Given the description of an element on the screen output the (x, y) to click on. 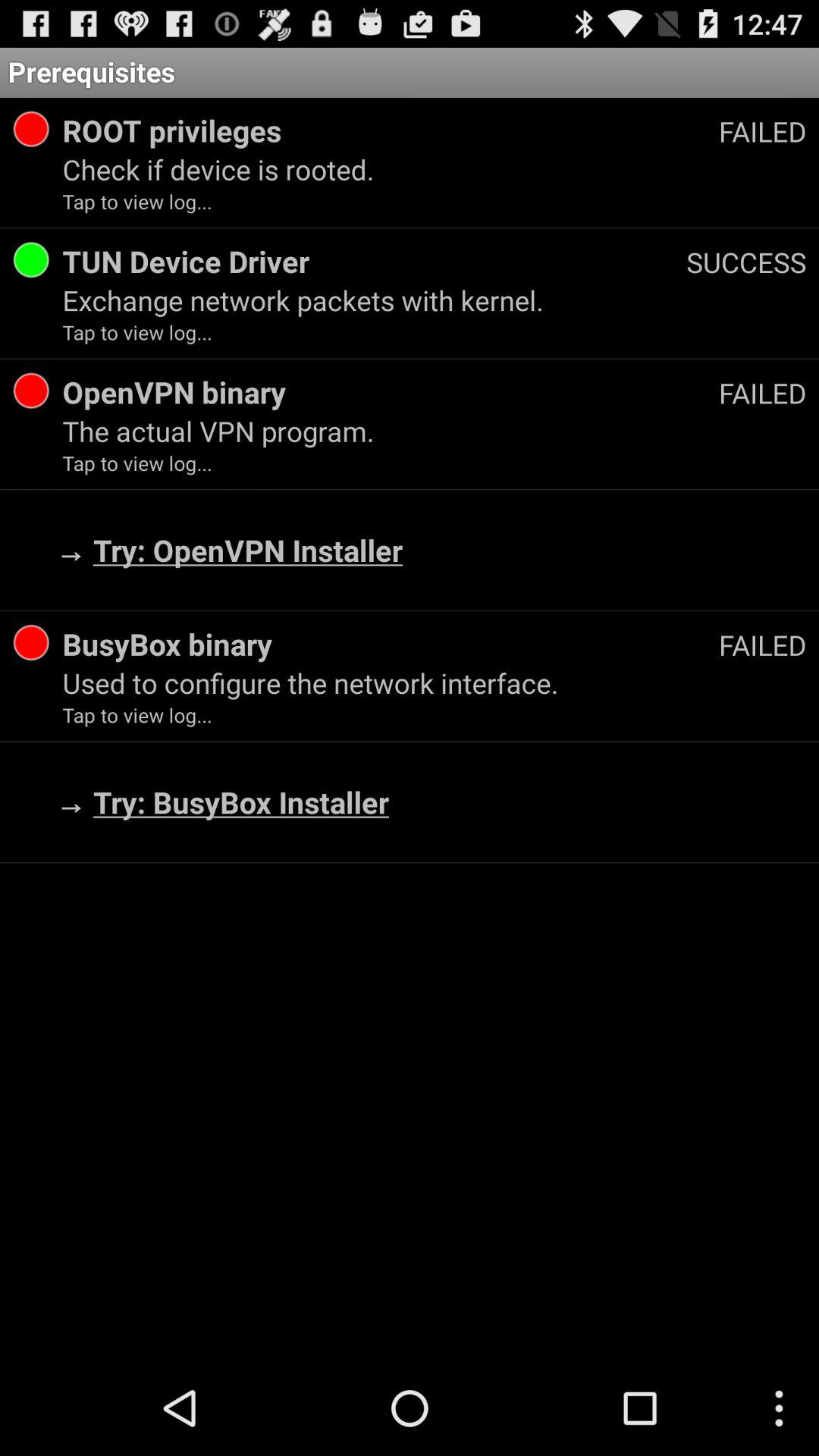
jump to the openvpn binary icon (390, 391)
